Given the description of an element on the screen output the (x, y) to click on. 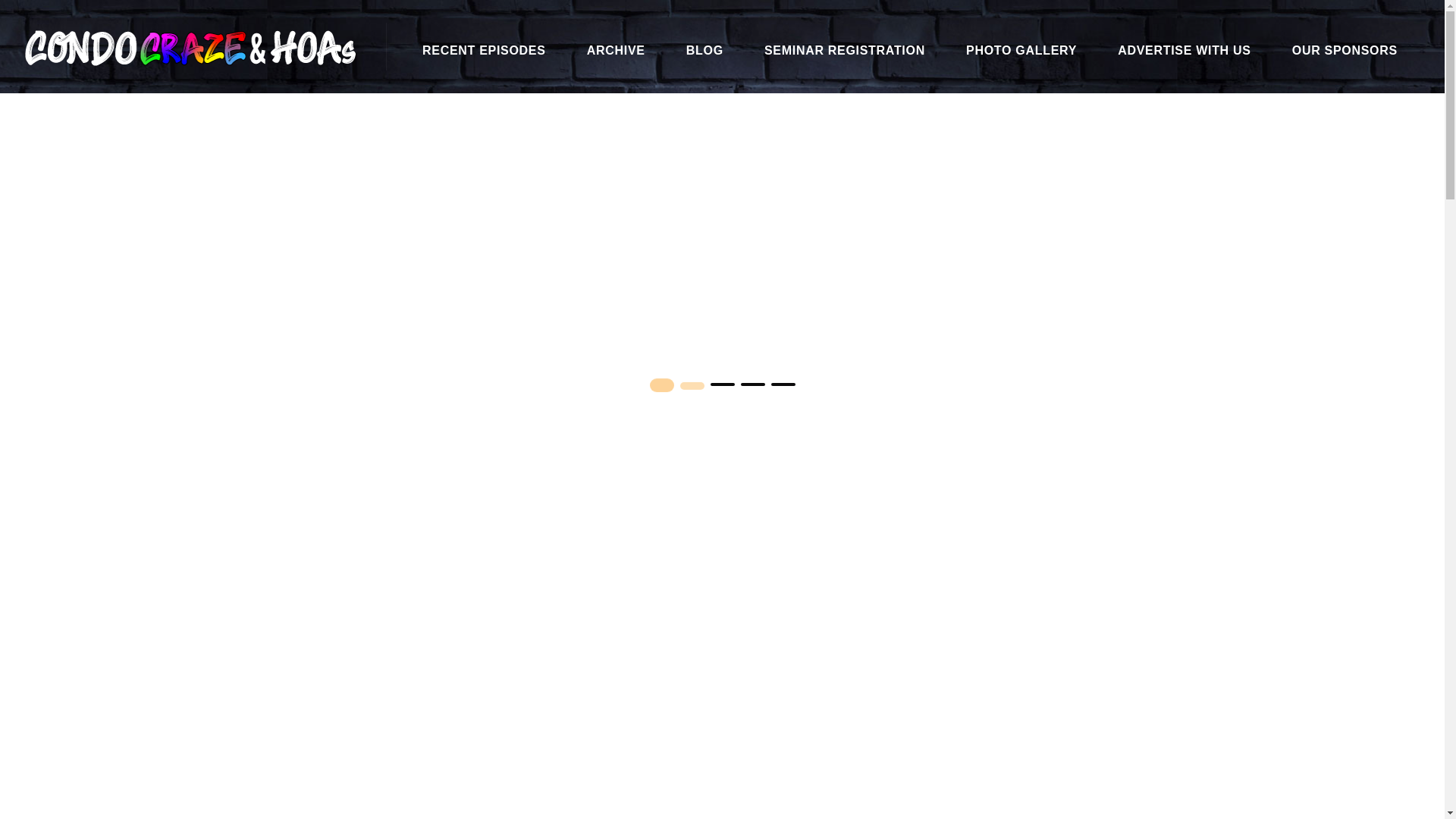
RECENT EPISODES (484, 50)
Home (1152, 108)
ARCHIVE (615, 50)
BLOG (704, 50)
ADVERTISE WITH US (1184, 50)
March 23, 2021 (721, 301)
SEMINAR REGISTRATION (844, 50)
Home (1152, 108)
PHOTO GALLERY (1021, 50)
OUR SPONSORS (1344, 50)
